Given the description of an element on the screen output the (x, y) to click on. 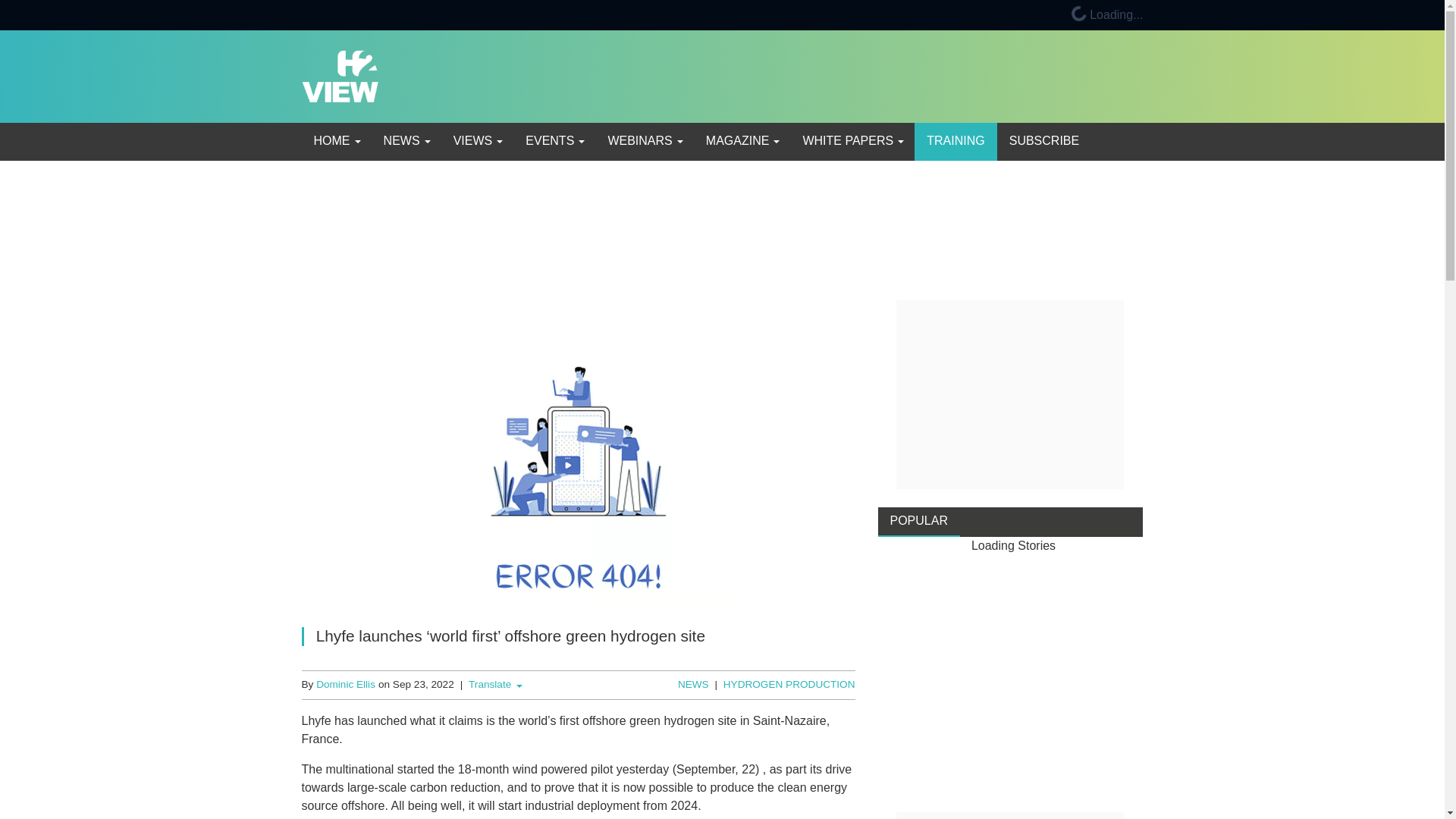
VIEWS (477, 140)
News (406, 140)
HOME (336, 140)
Home (336, 140)
H2 View (339, 74)
NEWS (406, 140)
